Given the description of an element on the screen output the (x, y) to click on. 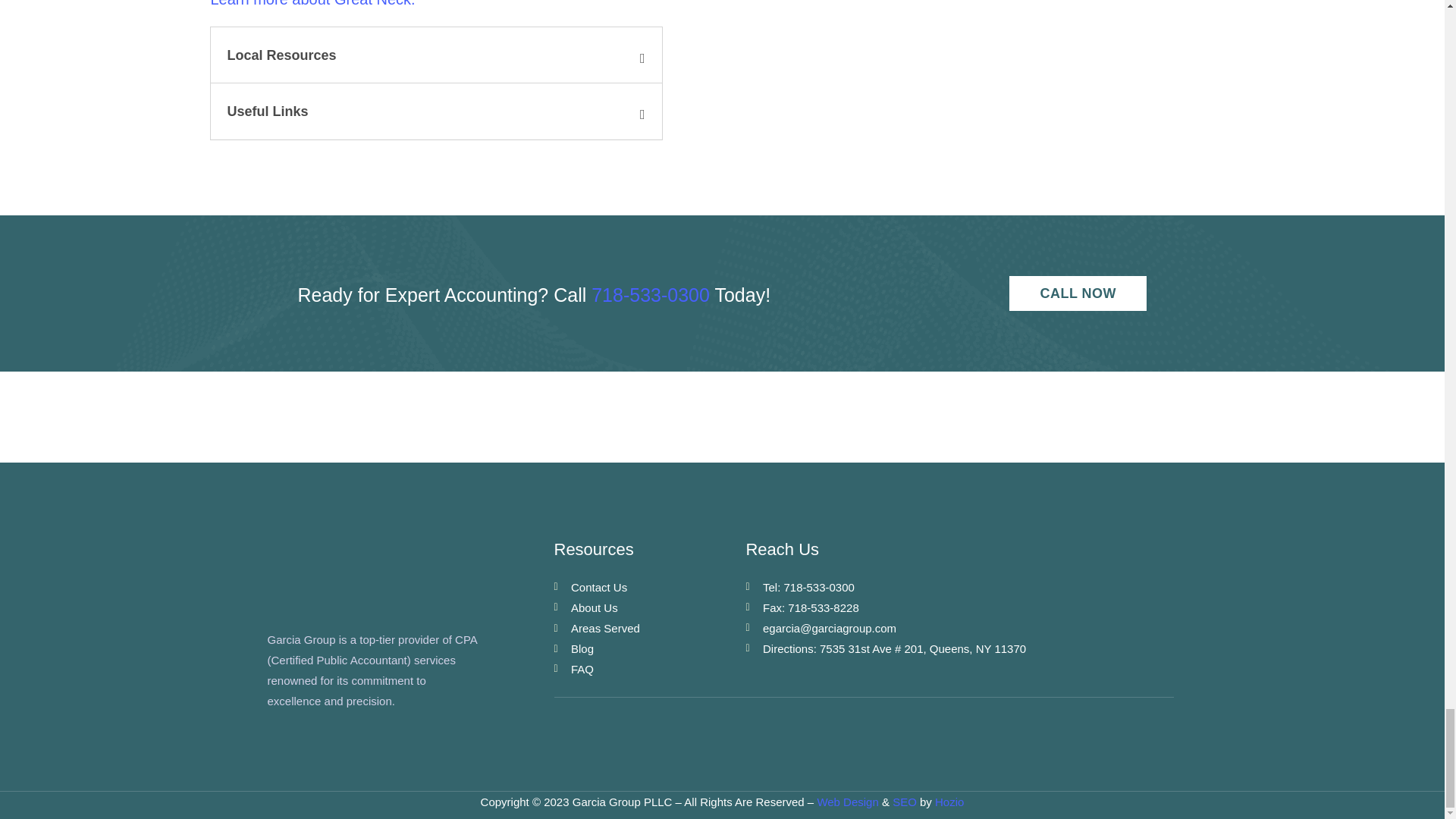
Reach Us (649, 628)
Ready for Expert Accounting? Call 718-533-0300 Today! (959, 549)
Resources (591, 295)
CALL NOW (436, 83)
